Given the description of an element on the screen output the (x, y) to click on. 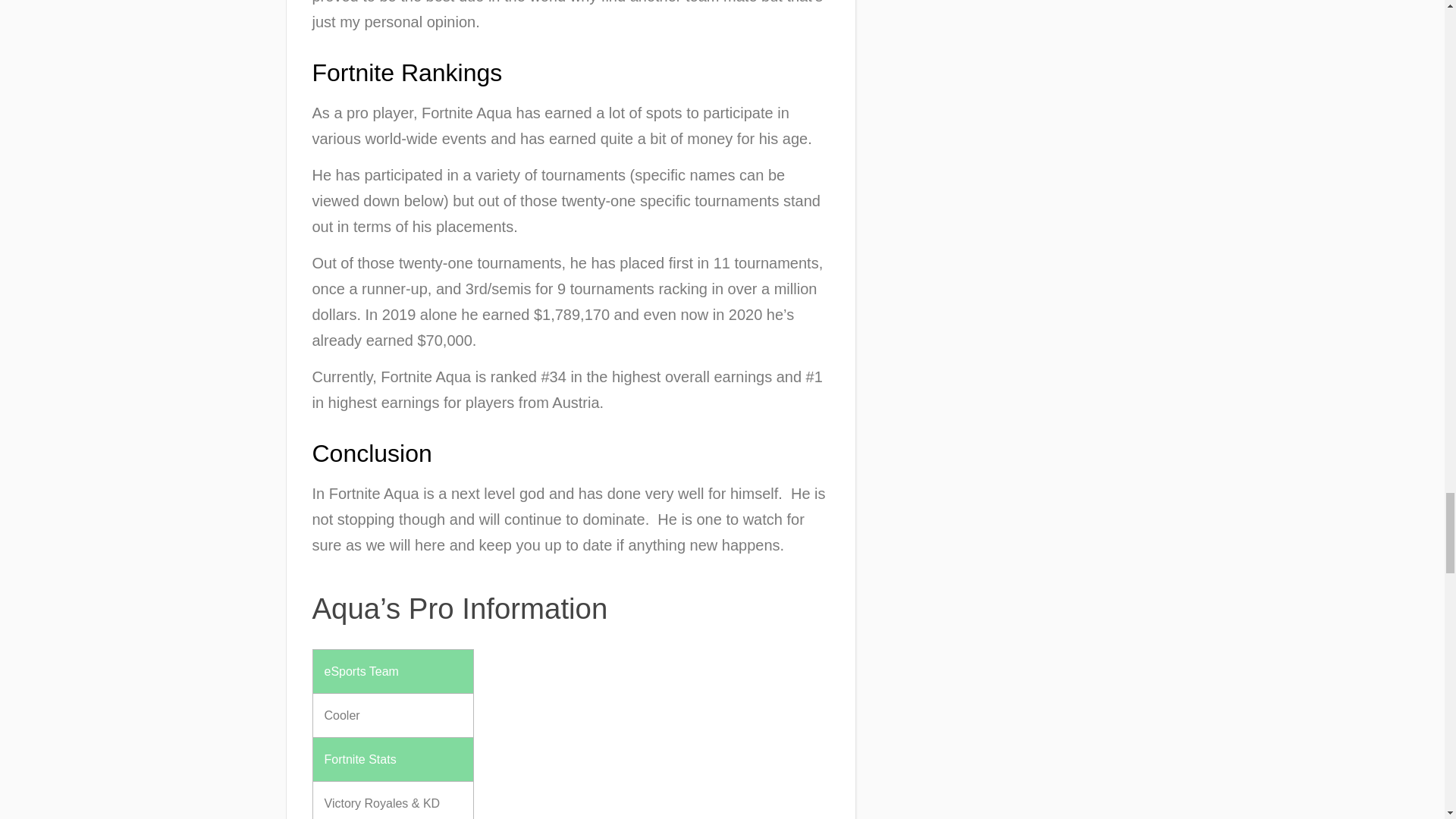
Cooler (341, 715)
